Given the description of an element on the screen output the (x, y) to click on. 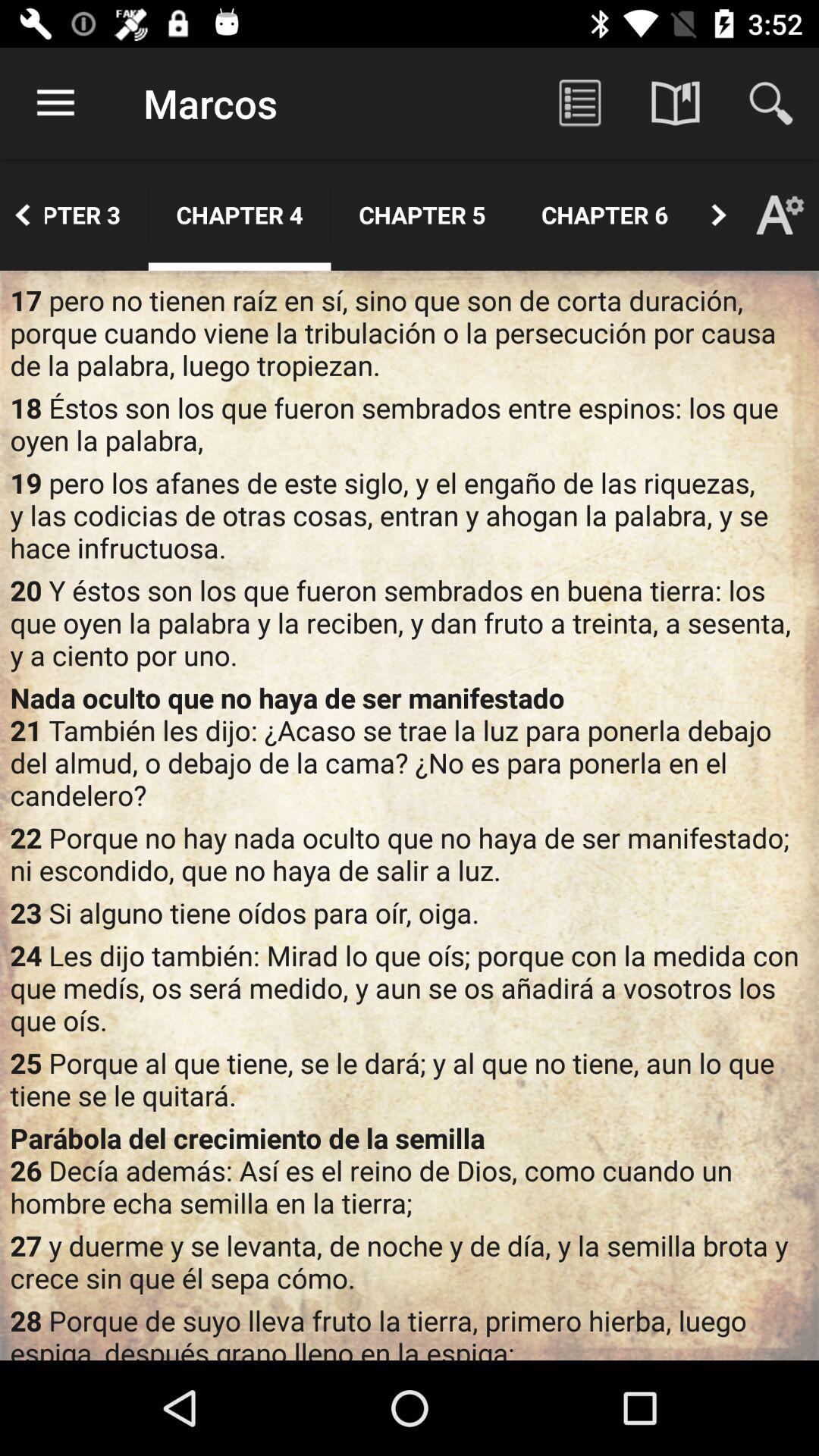
launch icon below the marcos icon (239, 214)
